Given the description of an element on the screen output the (x, y) to click on. 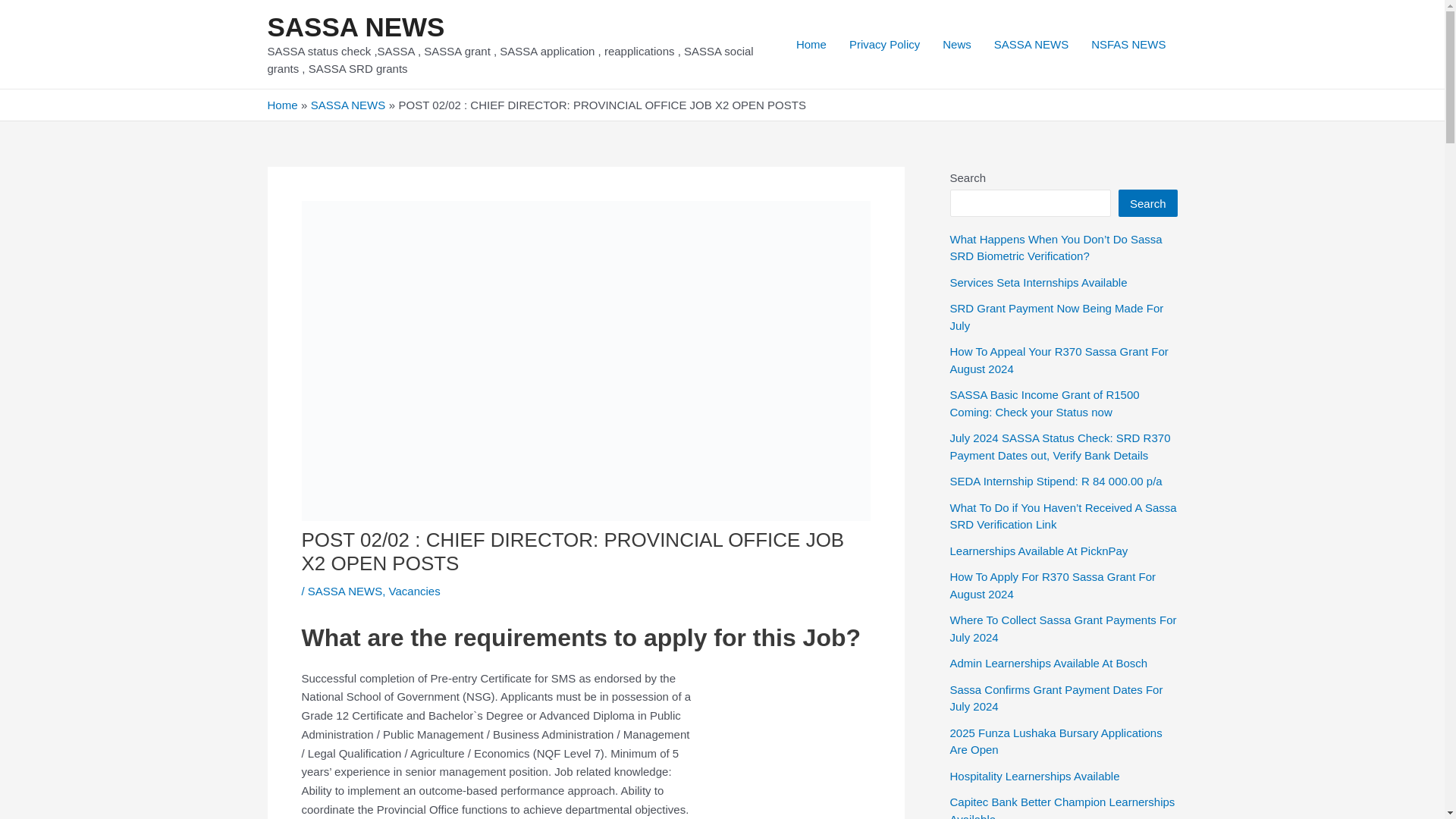
Learnerships Available At PicknPay (1037, 550)
Admin Learnerships Available At Bosch (1048, 662)
SASSA NEWS (344, 590)
How To Apply For R370 Sassa Grant For August 2024 (1052, 585)
NSFAS NEWS (1128, 43)
Home (281, 104)
SASSA NEWS (348, 104)
Vacancies (414, 590)
